Given the description of an element on the screen output the (x, y) to click on. 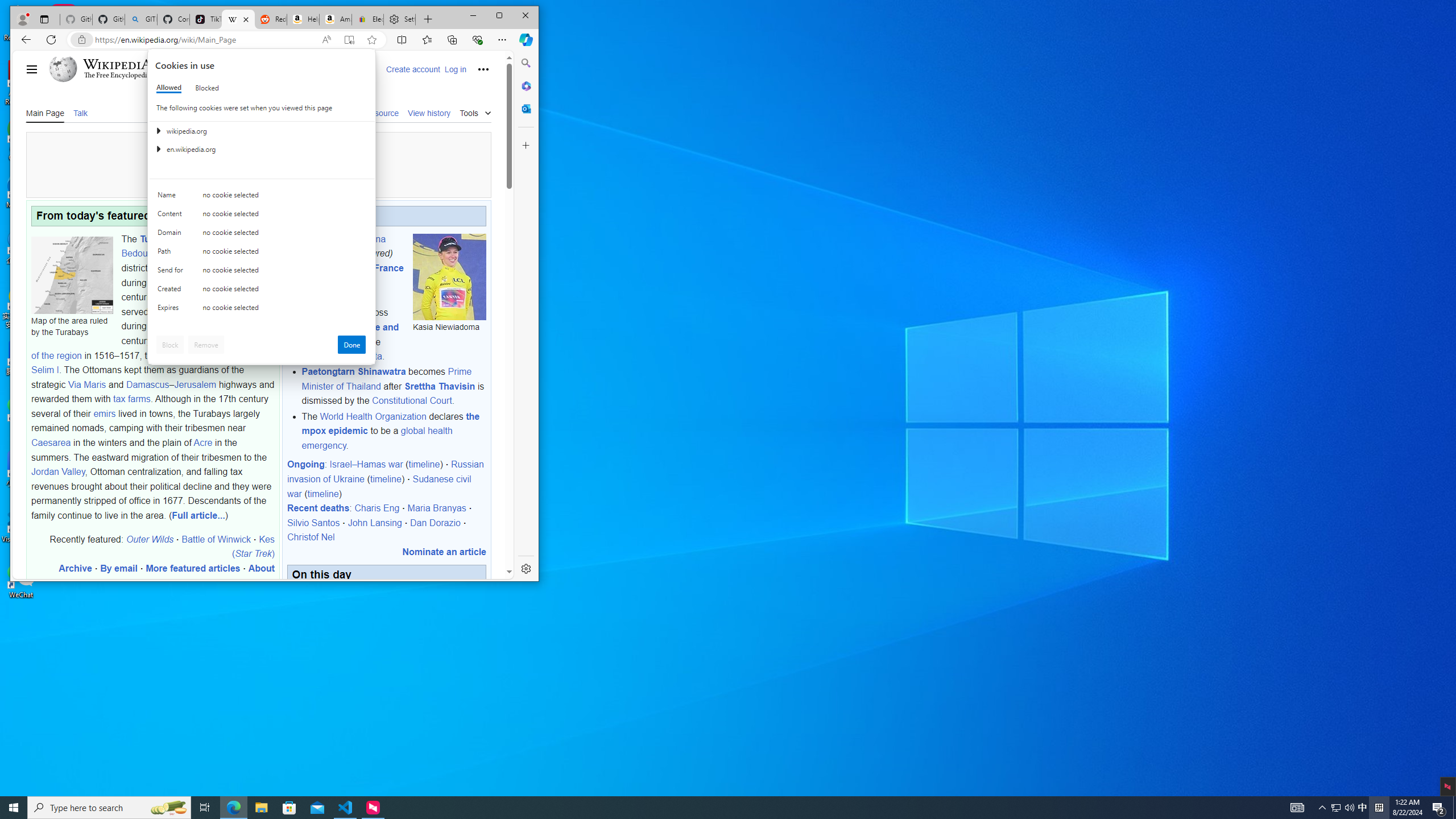
Notification Chevron (1335, 807)
Running applications (1322, 807)
Task View (707, 807)
File Explorer (204, 807)
Created (261, 807)
Microsoft Edge - 1 running window (172, 291)
Search highlights icon opens search home window (233, 807)
Start (167, 807)
Class: c0153 c0157 (13, 807)
Domain (261, 309)
Visual Studio Code - 1 running window (172, 235)
Send for (345, 807)
